Given the description of an element on the screen output the (x, y) to click on. 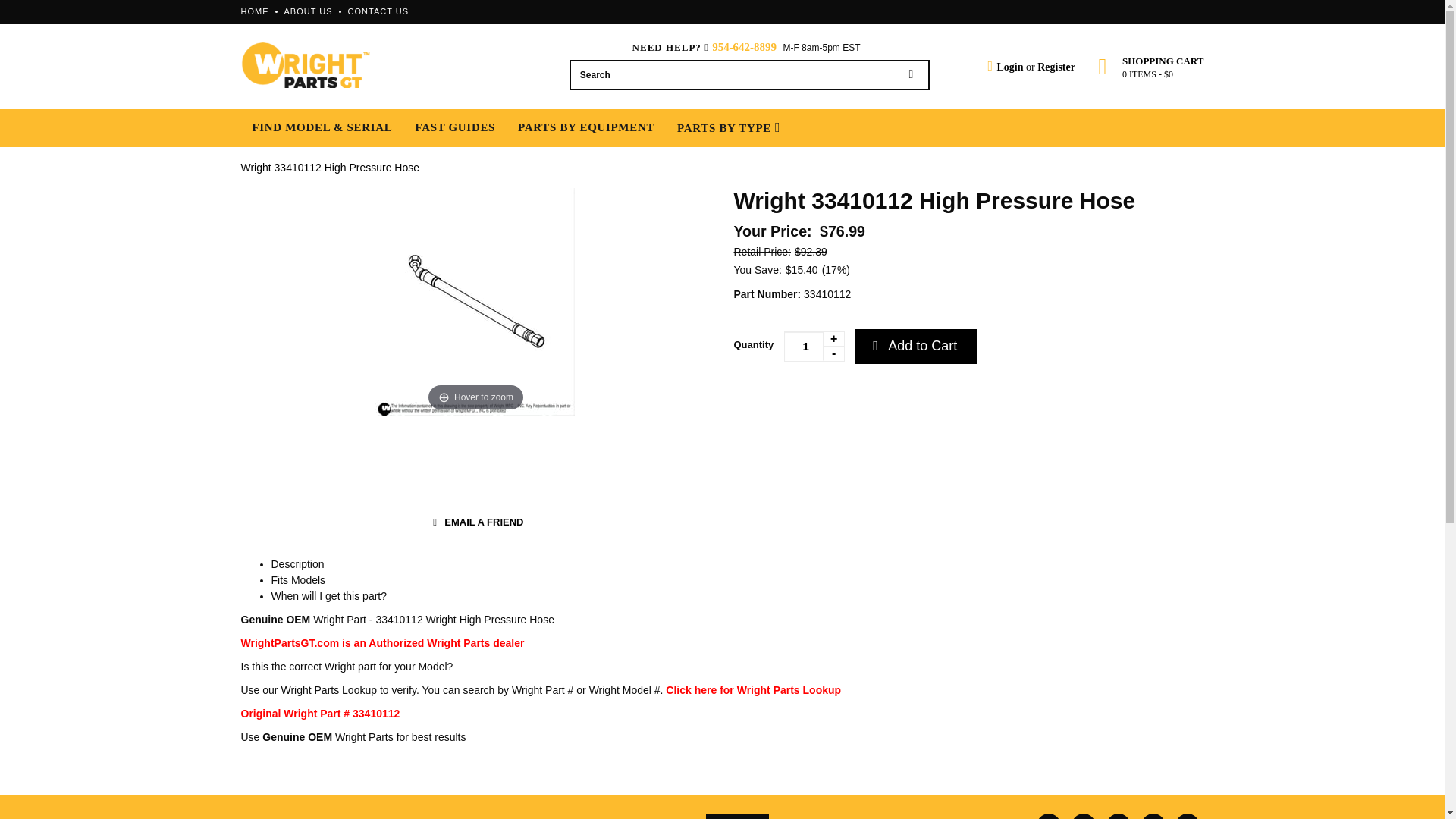
Follow Us on Instagram (1186, 816)
 Wright Parts Diagrams (753, 689)
HOME (255, 11)
Subscribe to our Channel (1118, 816)
954-642-8899 (743, 46)
Follow Us on Pinterest (1153, 816)
Register (1055, 67)
Login (1005, 67)
ABOUT US (307, 11)
Like Us on Facebook (1048, 816)
FAST GUIDES (454, 127)
CONTACT US (378, 11)
PARTS BY TYPE (728, 127)
1 (814, 346)
PARTS BY EQUIPMENT (585, 127)
